Given the description of an element on the screen output the (x, y) to click on. 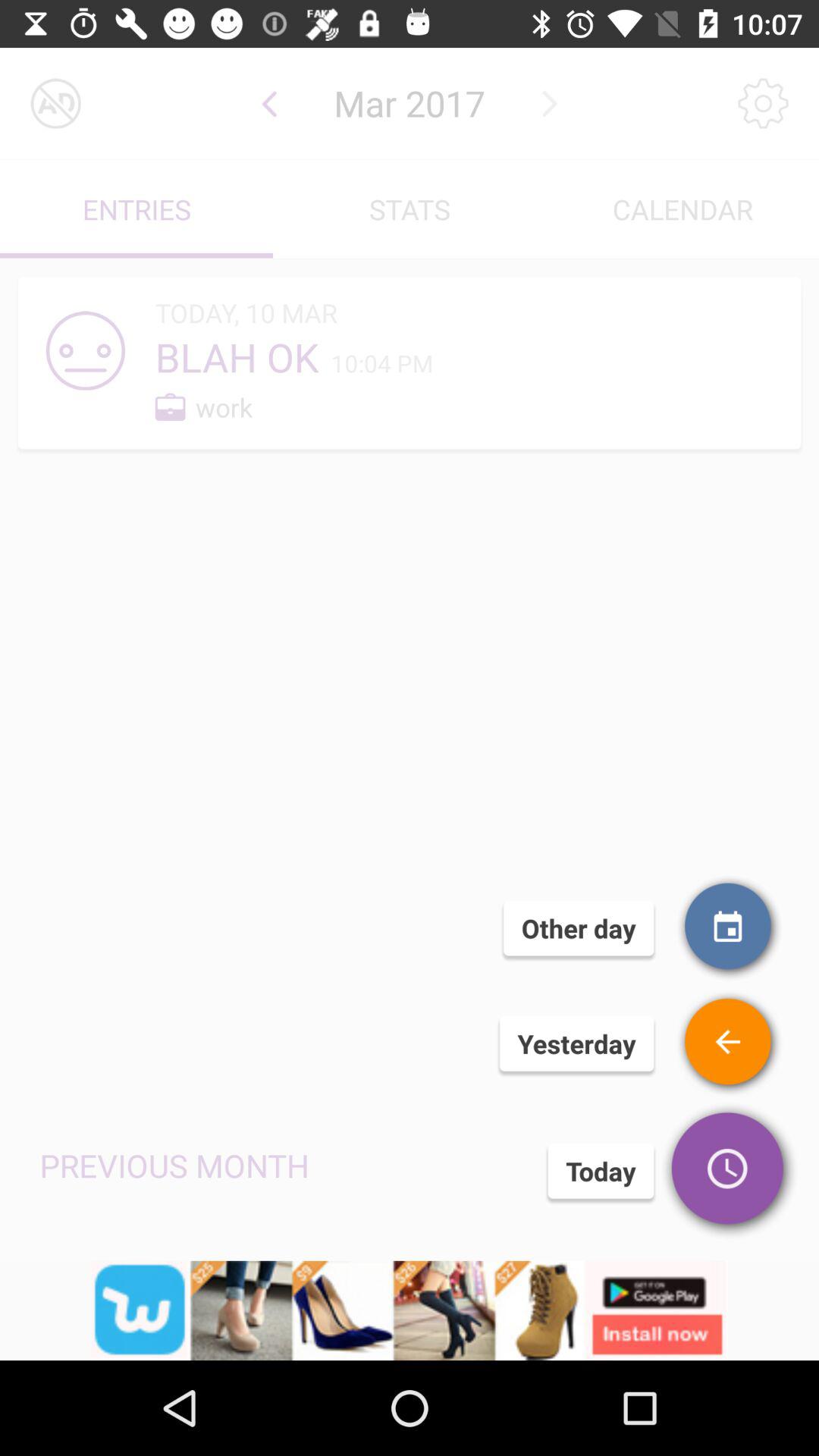
go to back (269, 103)
